Given the description of an element on the screen output the (x, y) to click on. 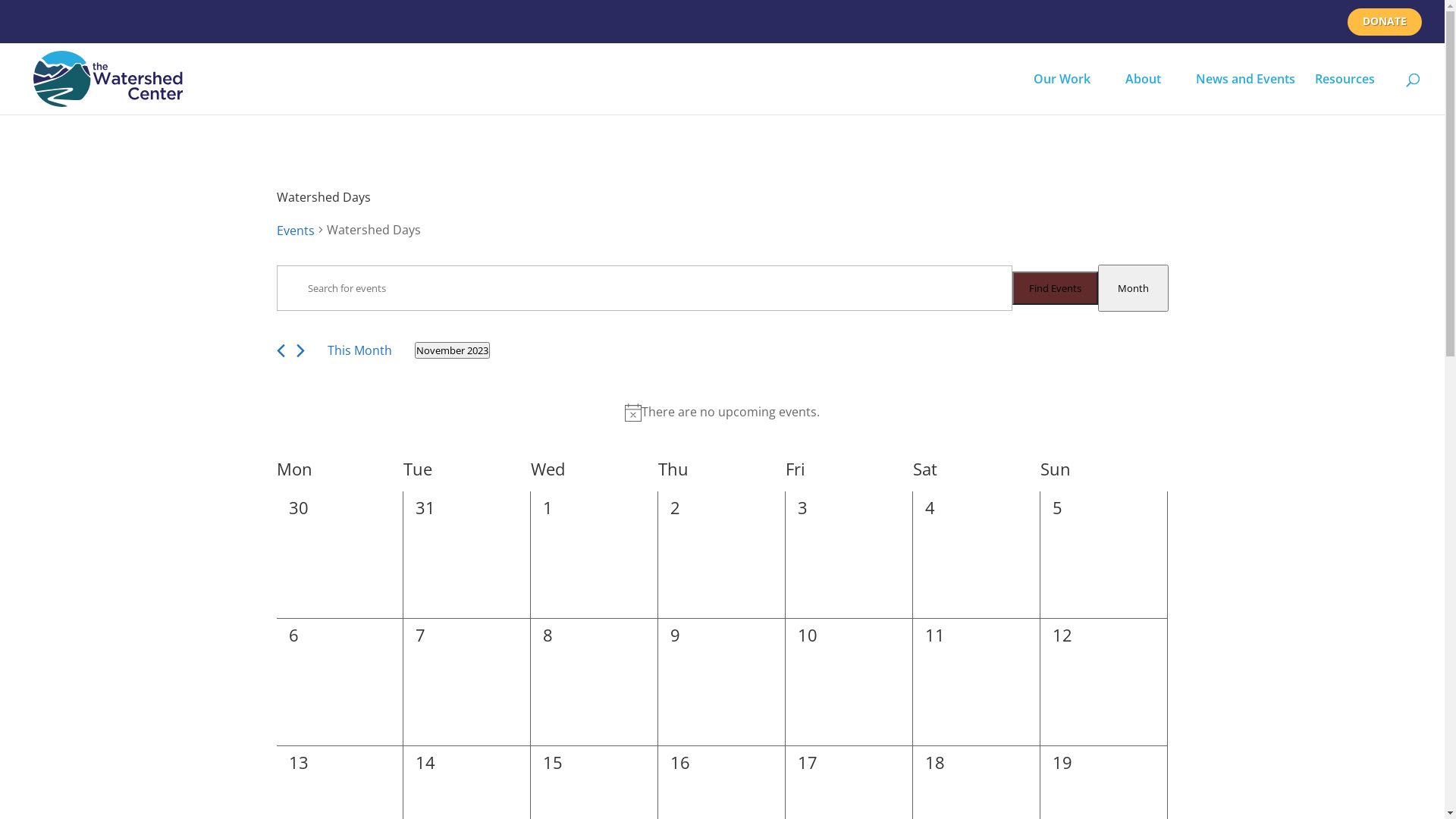
Our Work Element type: text (1069, 92)
Month Element type: text (1133, 287)
November 2023 Element type: text (451, 350)
Find Events Element type: text (1054, 287)
Previous month Element type: hover (280, 350)
DONATE Element type: text (1384, 24)
About Element type: text (1150, 92)
Events Element type: text (294, 230)
News and Events Element type: text (1245, 92)
Next month Element type: hover (299, 350)
Resources Element type: text (1352, 92)
This Month Element type: text (358, 350)
